Given the description of an element on the screen output the (x, y) to click on. 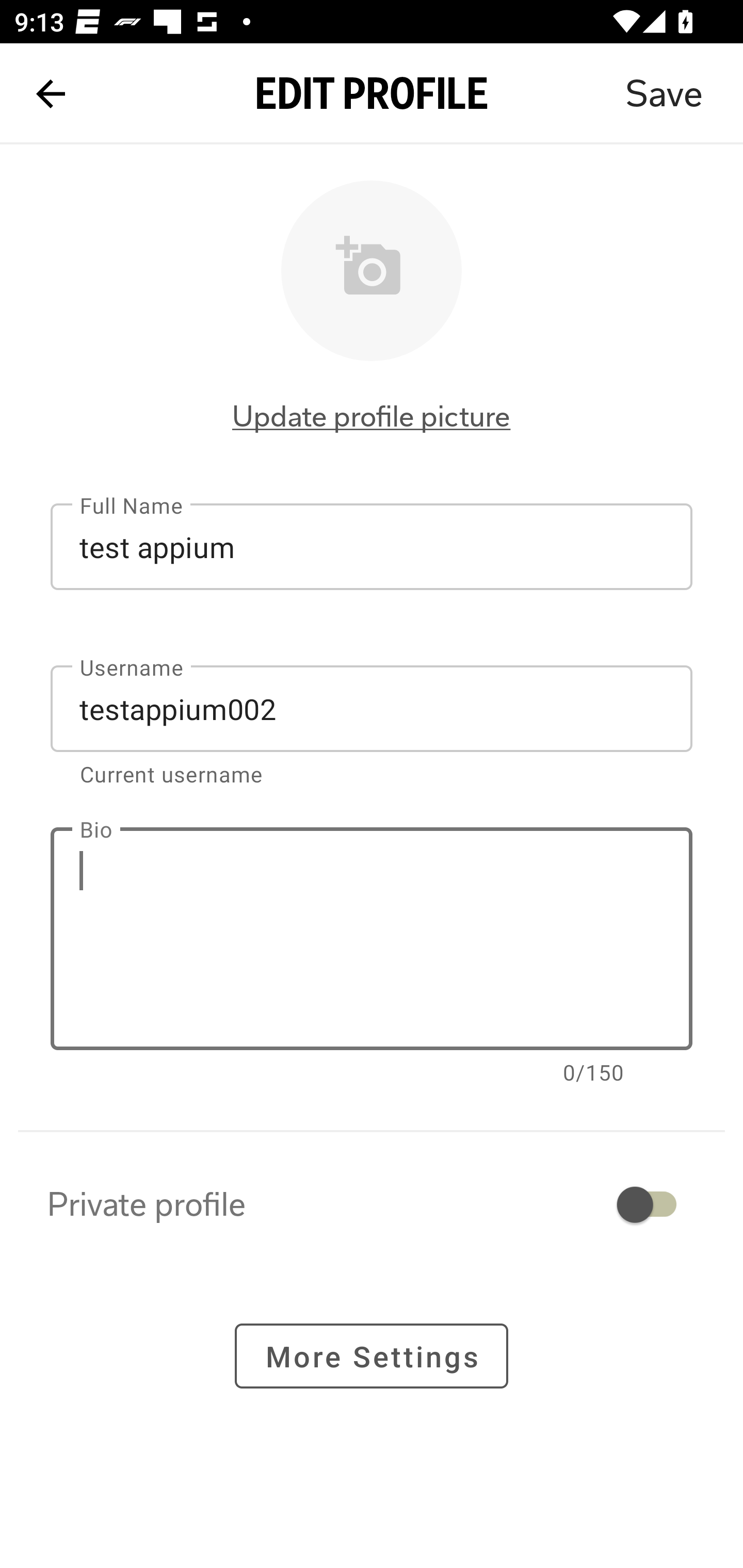
Back (50, 93)
Save (663, 93)
Update profile picture (371, 415)
test appium (371, 546)
testappium002 (371, 708)
Bio (371, 938)
Private profile (371, 1204)
More Settings (371, 1355)
